Given the description of an element on the screen output the (x, y) to click on. 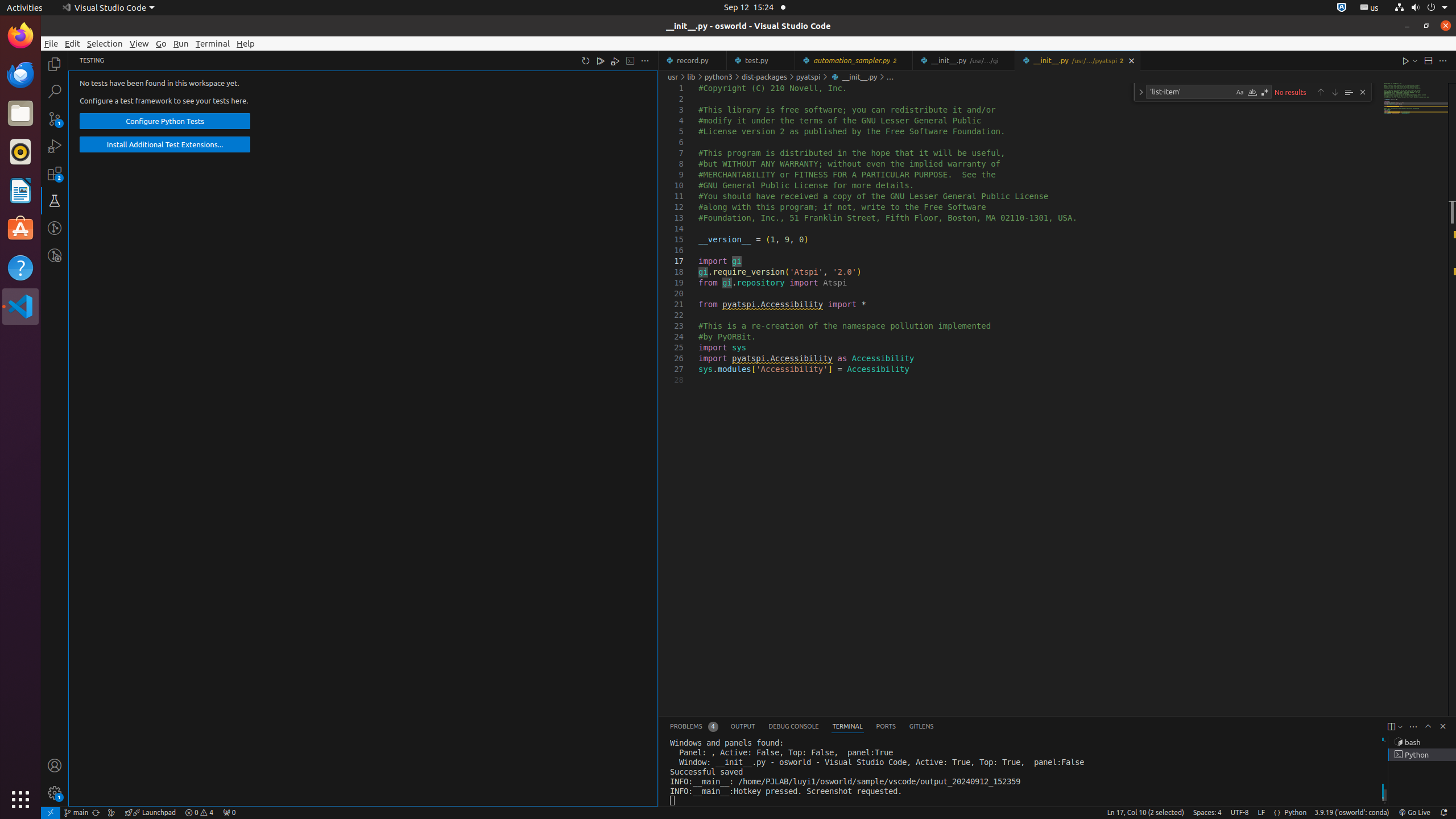
Match Whole Word (Alt+W) Element type: check-box (1252, 91)
GitLens Element type: page-tab (921, 726)
LF Element type: push-button (1261, 812)
Source Control (Ctrl+Shift+G G) - 1 pending changes Source Control (Ctrl+Shift+G G) - 1 pending changes Element type: page-tab (54, 118)
